Given the description of an element on the screen output the (x, y) to click on. 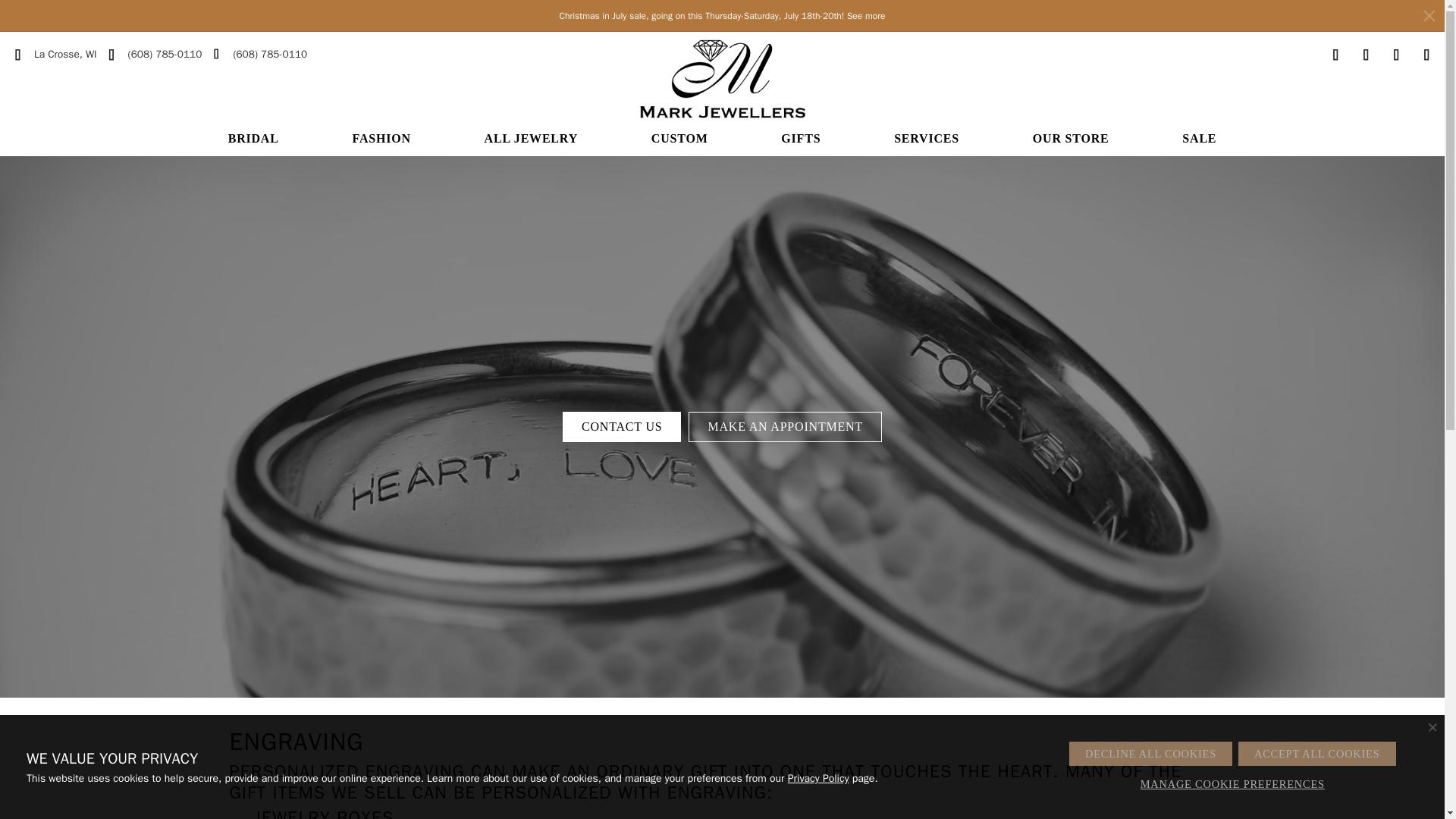
BRIDAL (253, 141)
La Crosse, WI (55, 54)
See more (866, 15)
